Given the description of an element on the screen output the (x, y) to click on. 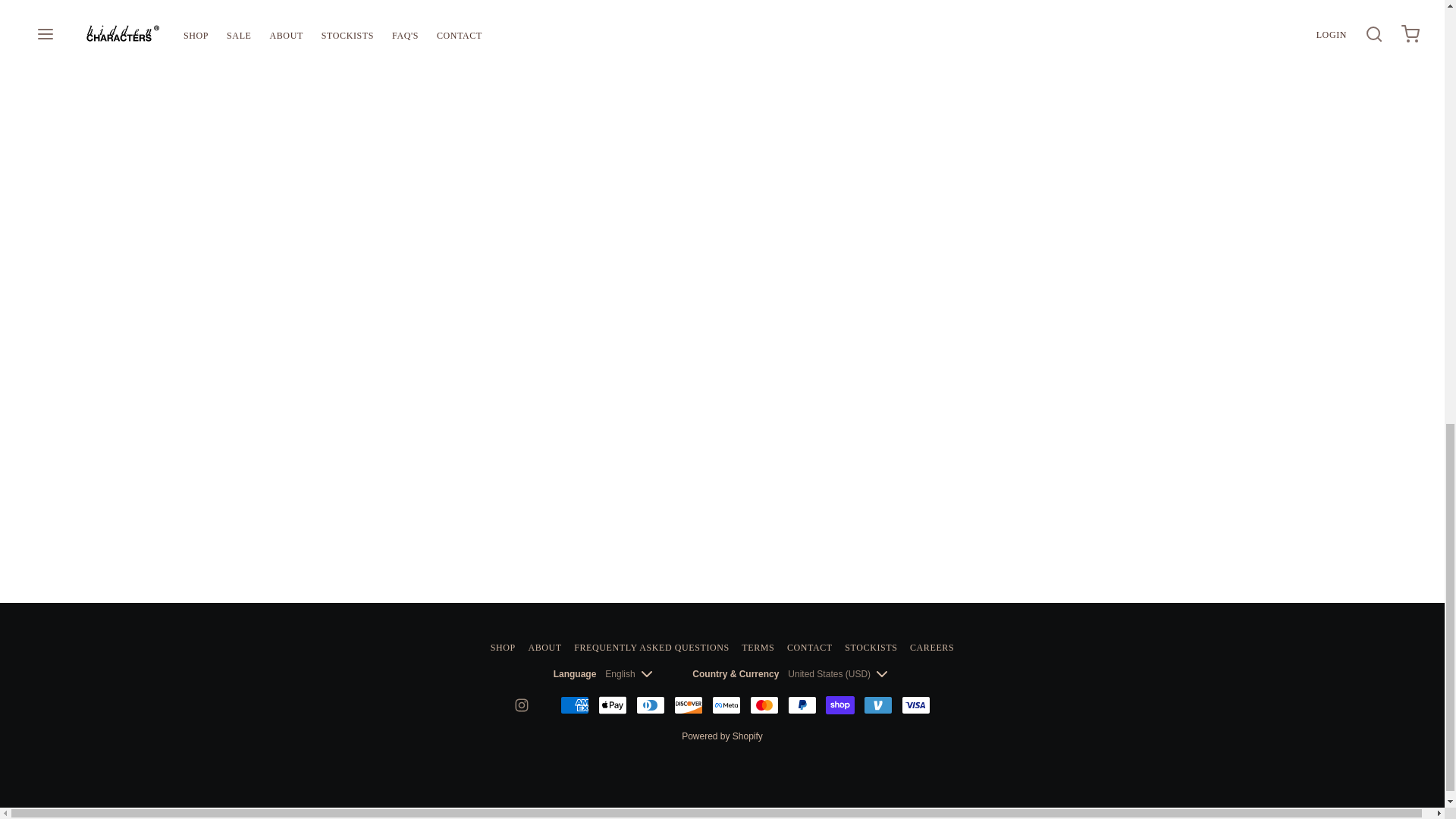
SHOP (502, 647)
ABOUT (543, 647)
